Given the description of an element on the screen output the (x, y) to click on. 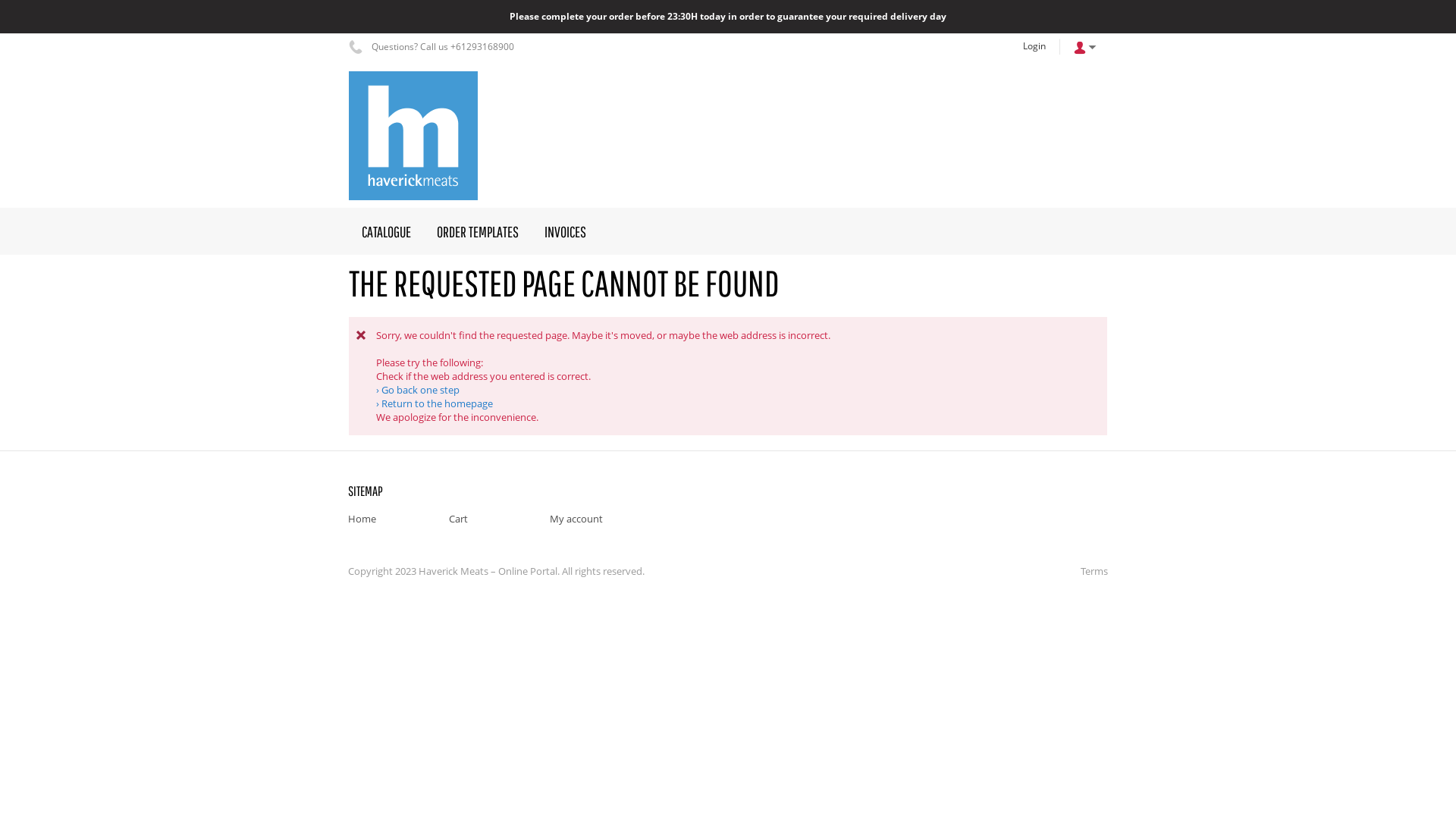
My account Element type: text (575, 518)
Home Element type: text (362, 518)
Cart Element type: text (457, 518)
CATALOGUE Element type: text (385, 230)
Go back one step Element type: text (417, 389)
ORDER TEMPLATES Element type: text (477, 230)
Login Element type: text (1034, 45)
Return to the homepage Element type: text (434, 403)
INVOICES Element type: text (565, 230)
Terms Element type: text (1090, 570)
